Given the description of an element on the screen output the (x, y) to click on. 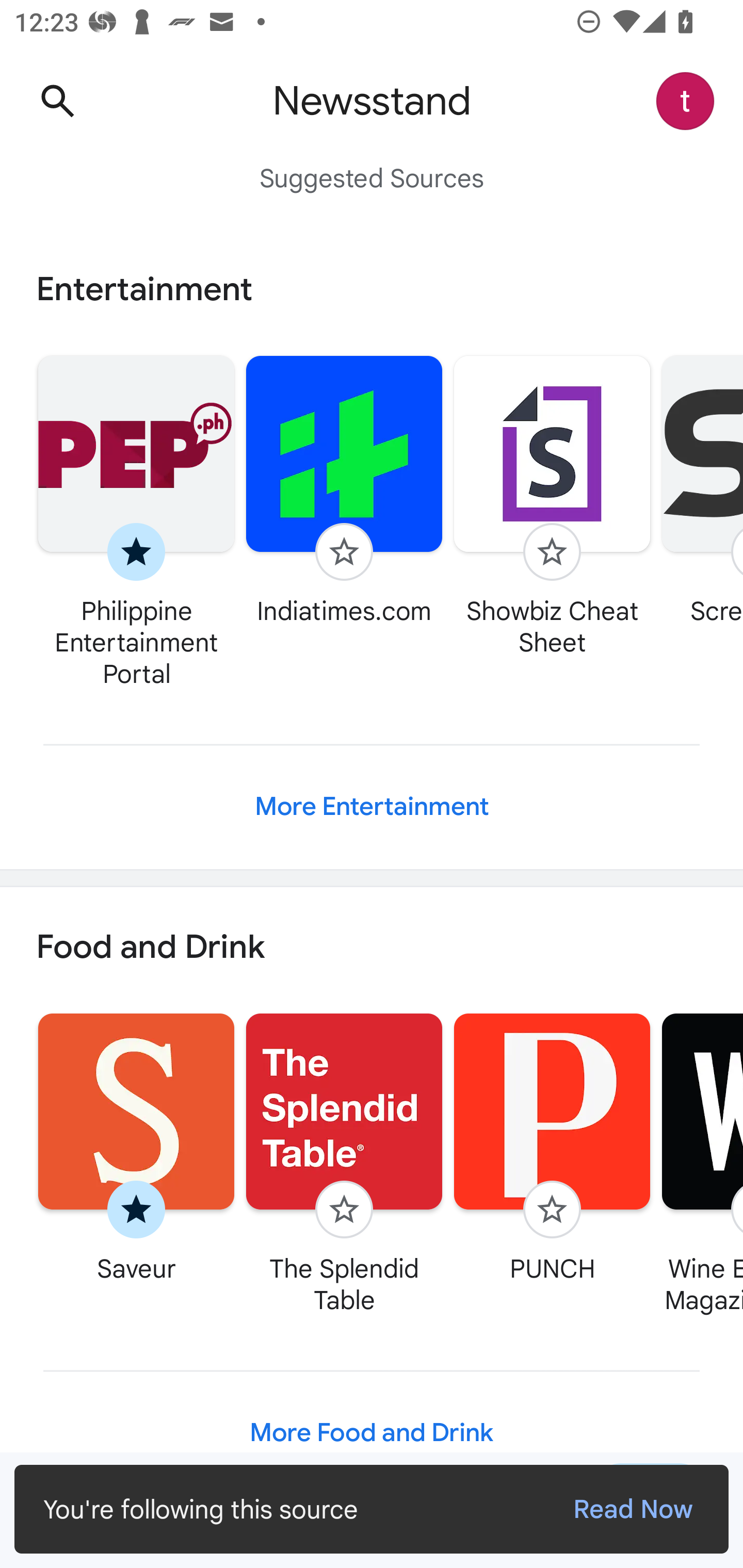
Search (57, 100)
Entertainment (371, 288)
Unfollow Philippine Entertainment Portal (136, 521)
Follow Indiatimes.com (344, 489)
Follow Showbiz Cheat Sheet (552, 505)
Unfollow (135, 551)
Follow (343, 551)
Follow (552, 551)
More Entertainment (371, 806)
Food and Drink (371, 947)
Unfollow Saveur (136, 1147)
Follow The Splendid Table (344, 1163)
Follow PUNCH (552, 1147)
Unfollow (135, 1209)
Follow (343, 1209)
Follow (552, 1209)
More Food and Drink (371, 1432)
Read Now (632, 1509)
